Given the description of an element on the screen output the (x, y) to click on. 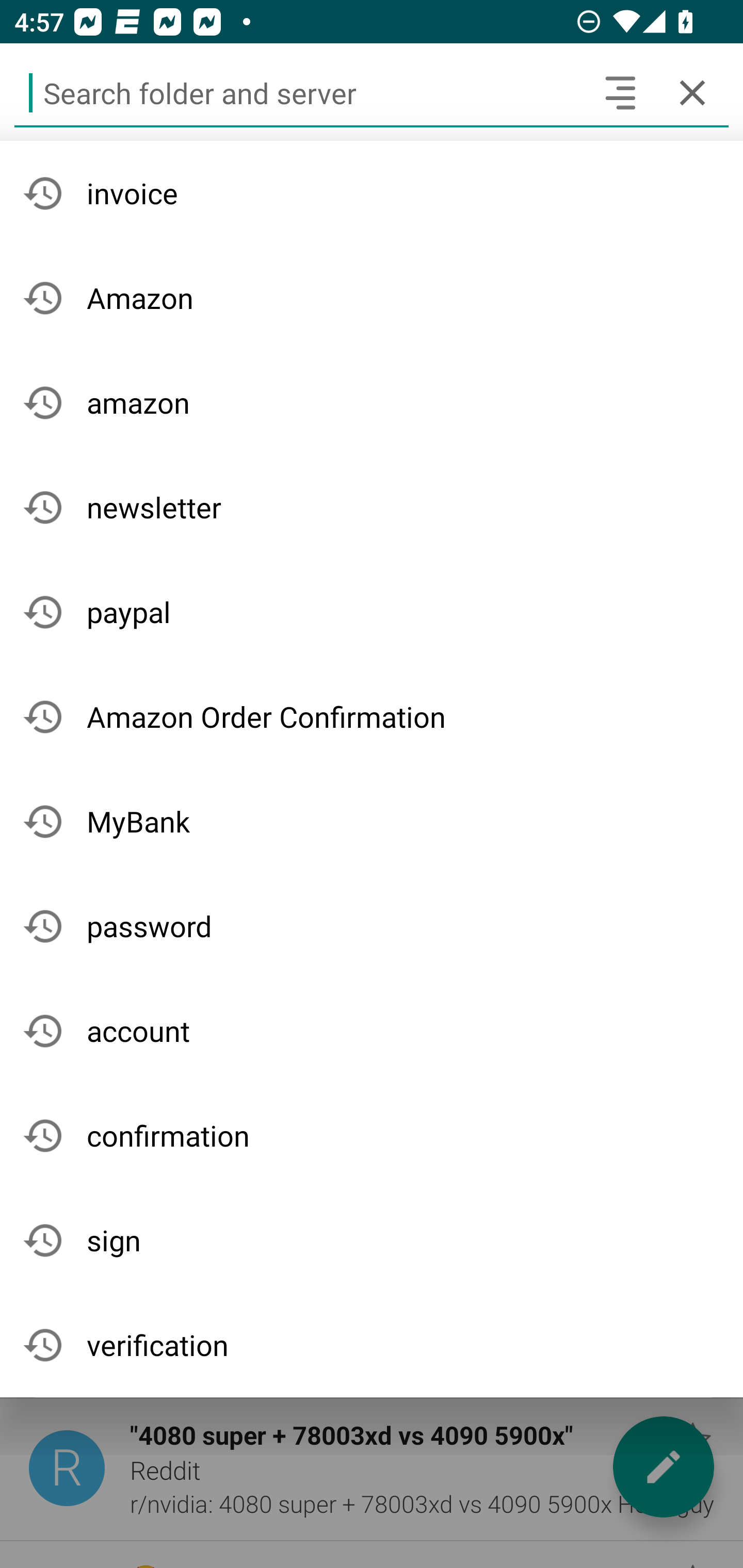
   Search folder and server (298, 92)
Search headers and text (619, 92)
Cancel (692, 92)
